Given the description of an element on the screen output the (x, y) to click on. 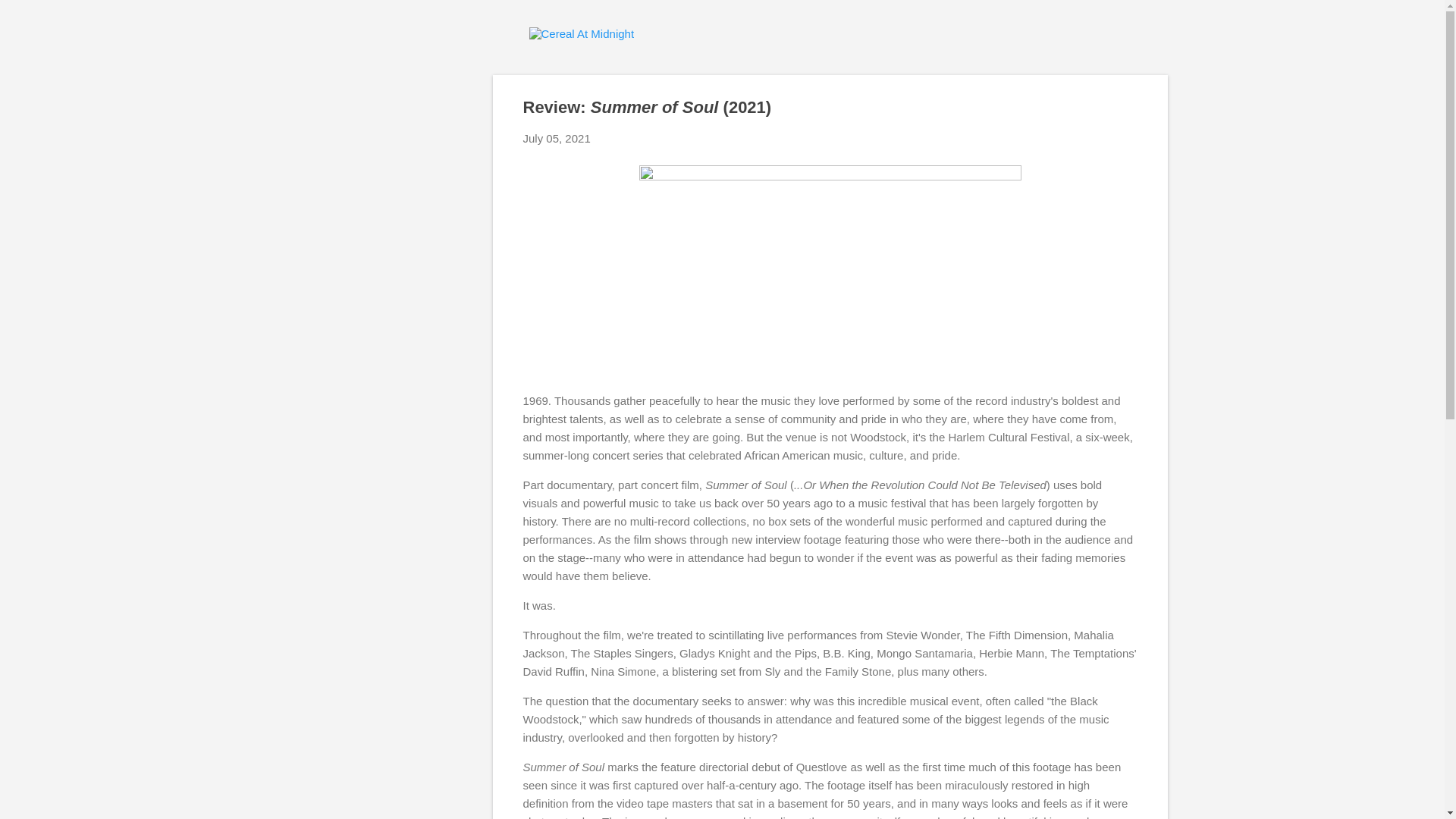
July 05, 2021 (556, 137)
permanent link (556, 137)
Search (29, 18)
